Given the description of an element on the screen output the (x, y) to click on. 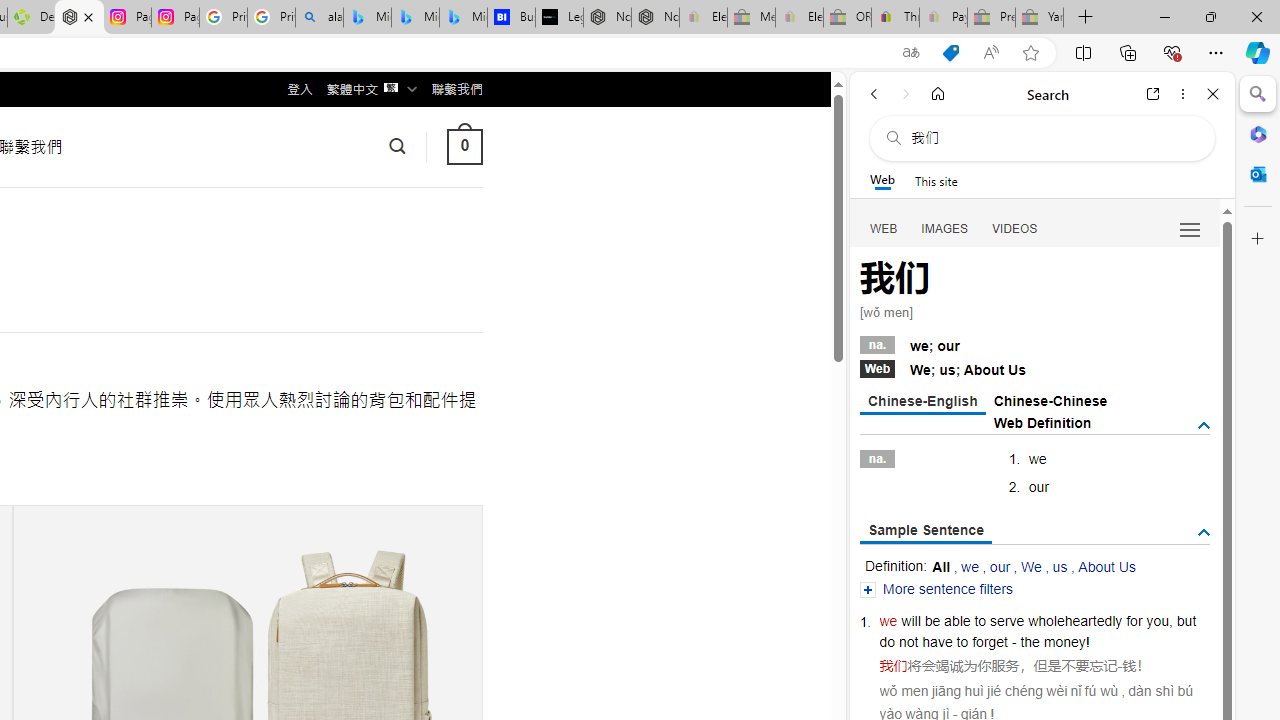
our (1000, 566)
wholeheartedly (1074, 620)
for (1134, 620)
Payments Terms of Use | eBay.com - Sleeping (943, 17)
money (1064, 642)
- (1119, 665)
